Given the description of an element on the screen output the (x, y) to click on. 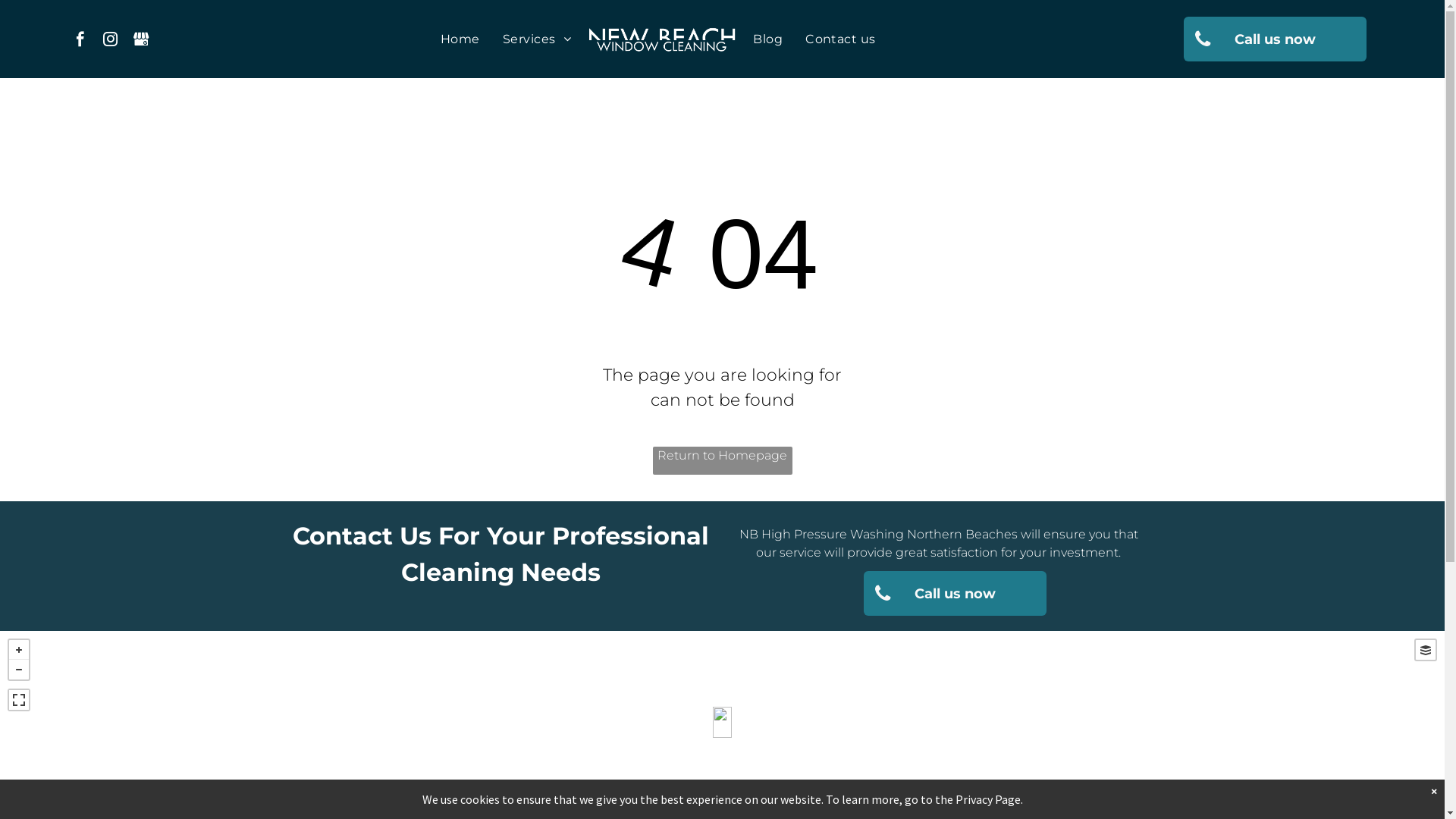
Services Element type: text (536, 39)
Blog Element type: text (767, 39)
Contact us Element type: text (840, 39)
Layers Element type: hover (1425, 649)
+ Element type: text (18, 649)
- Element type: text (18, 669)
Home Element type: text (460, 39)
View Fullscreen Element type: hover (18, 699)
Return to Homepage Element type: text (721, 460)
Call us now Element type: text (1274, 38)
Call us now Element type: text (954, 593)
